Given the description of an element on the screen output the (x, y) to click on. 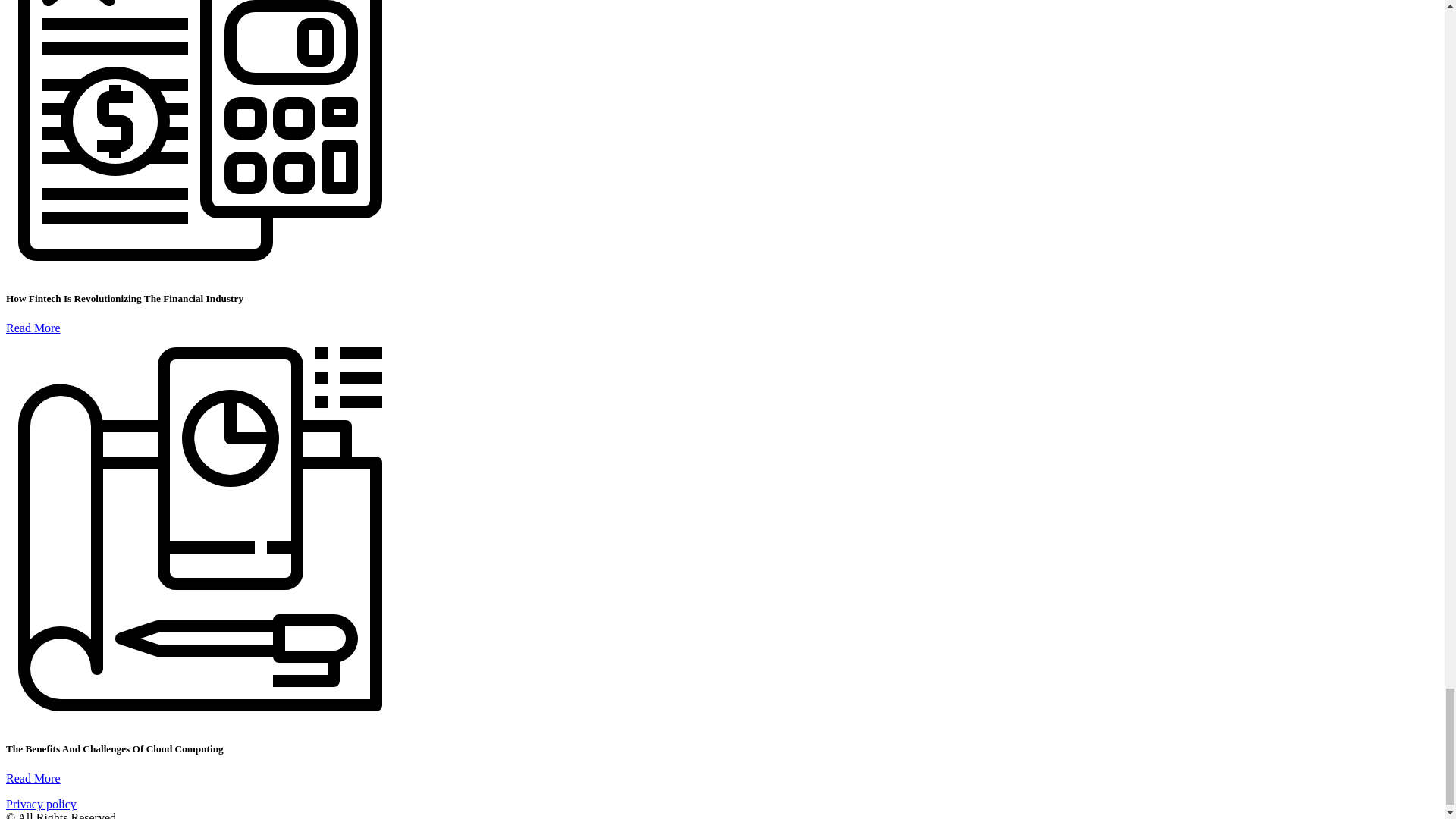
Read More (33, 778)
Privacy policy (41, 803)
Read More (33, 327)
